Given the description of an element on the screen output the (x, y) to click on. 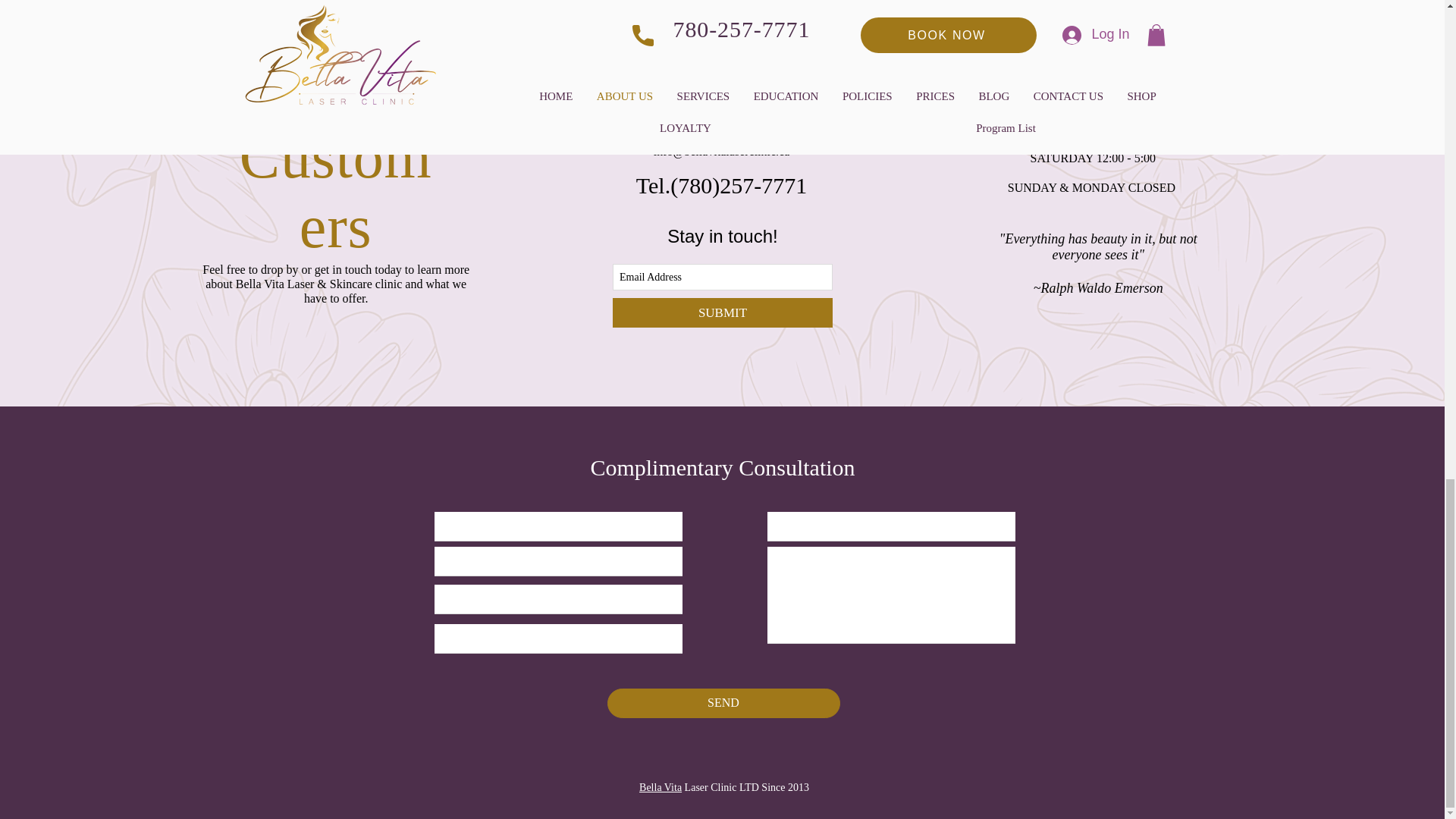
SEND (723, 703)
Bella Vita (660, 787)
SUBMIT (722, 312)
